Given the description of an element on the screen output the (x, y) to click on. 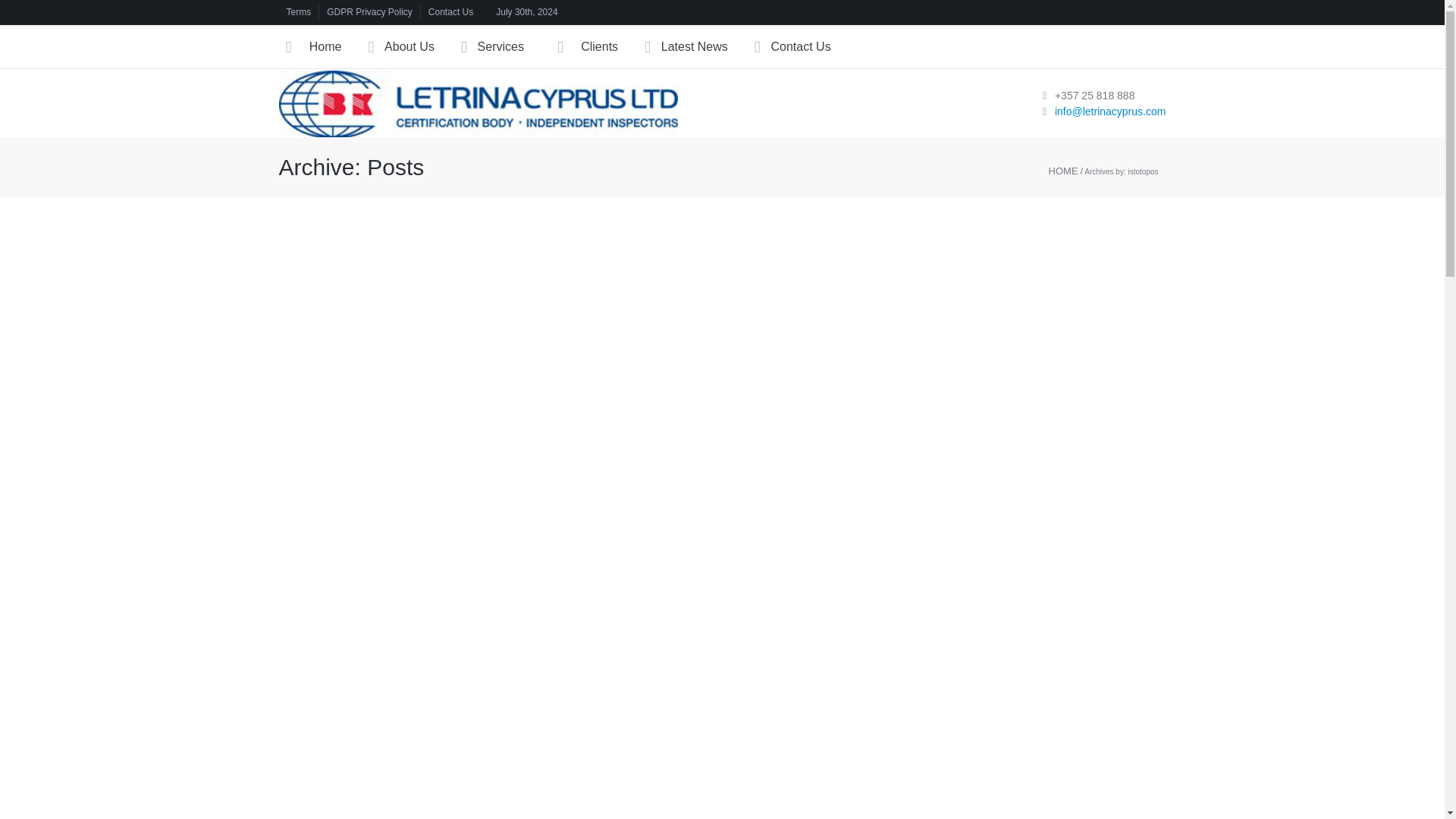
HOME (1063, 170)
GDPR Privacy Policy (369, 11)
Terms (298, 11)
Latest News (699, 46)
Contact Us (450, 11)
Contact Us (805, 46)
About Us (414, 46)
Clients (597, 46)
Home (323, 46)
Services (505, 46)
